Given the description of an element on the screen output the (x, y) to click on. 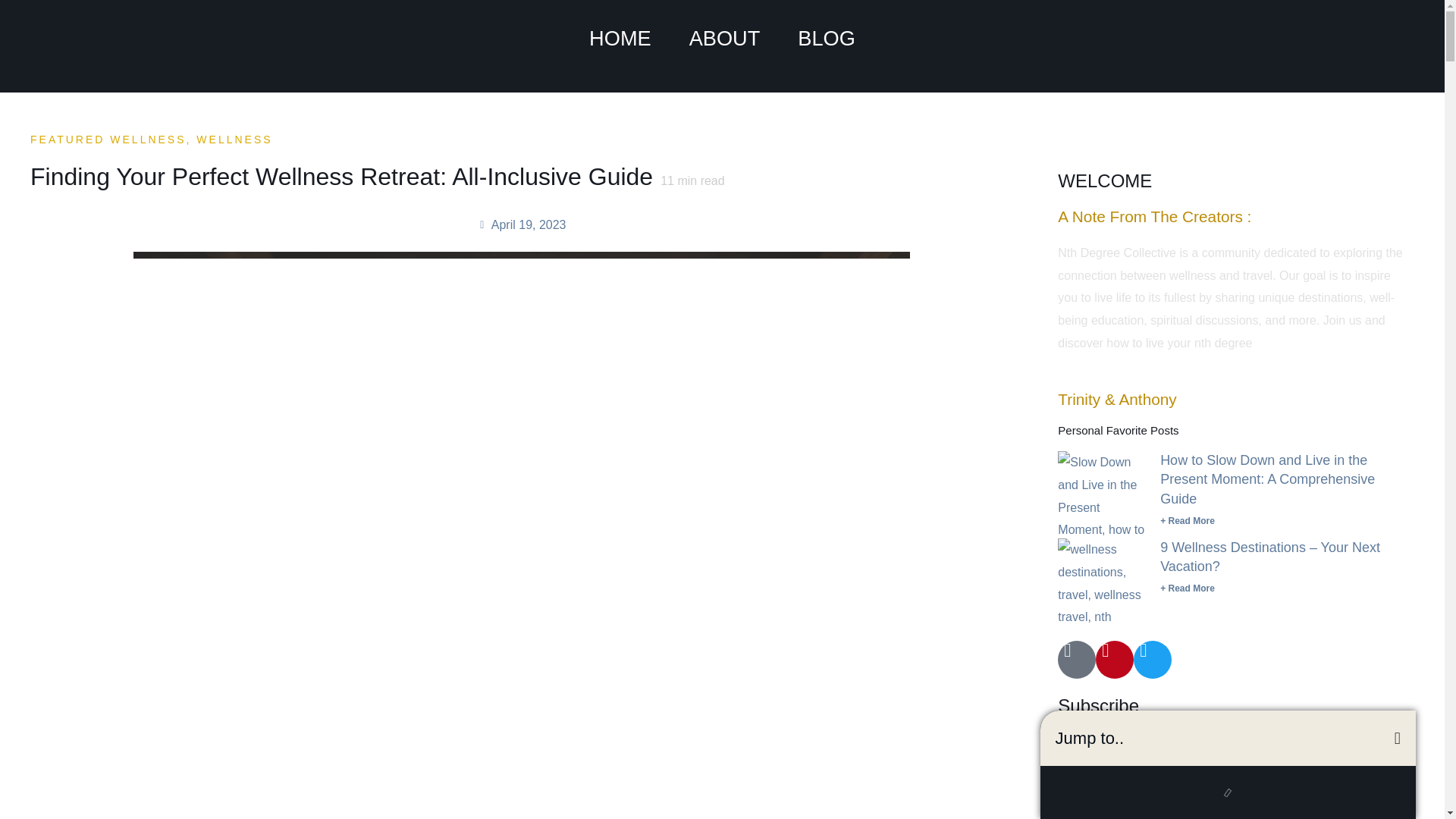
ABOUT (723, 38)
BLOG (826, 38)
Twitter (1153, 659)
WELLNESS (234, 139)
Etsy (1077, 659)
Pinterest (1115, 659)
FEATURED WELLNESS (108, 139)
April 19, 2023 (521, 224)
HOME (619, 38)
